Given the description of an element on the screen output the (x, y) to click on. 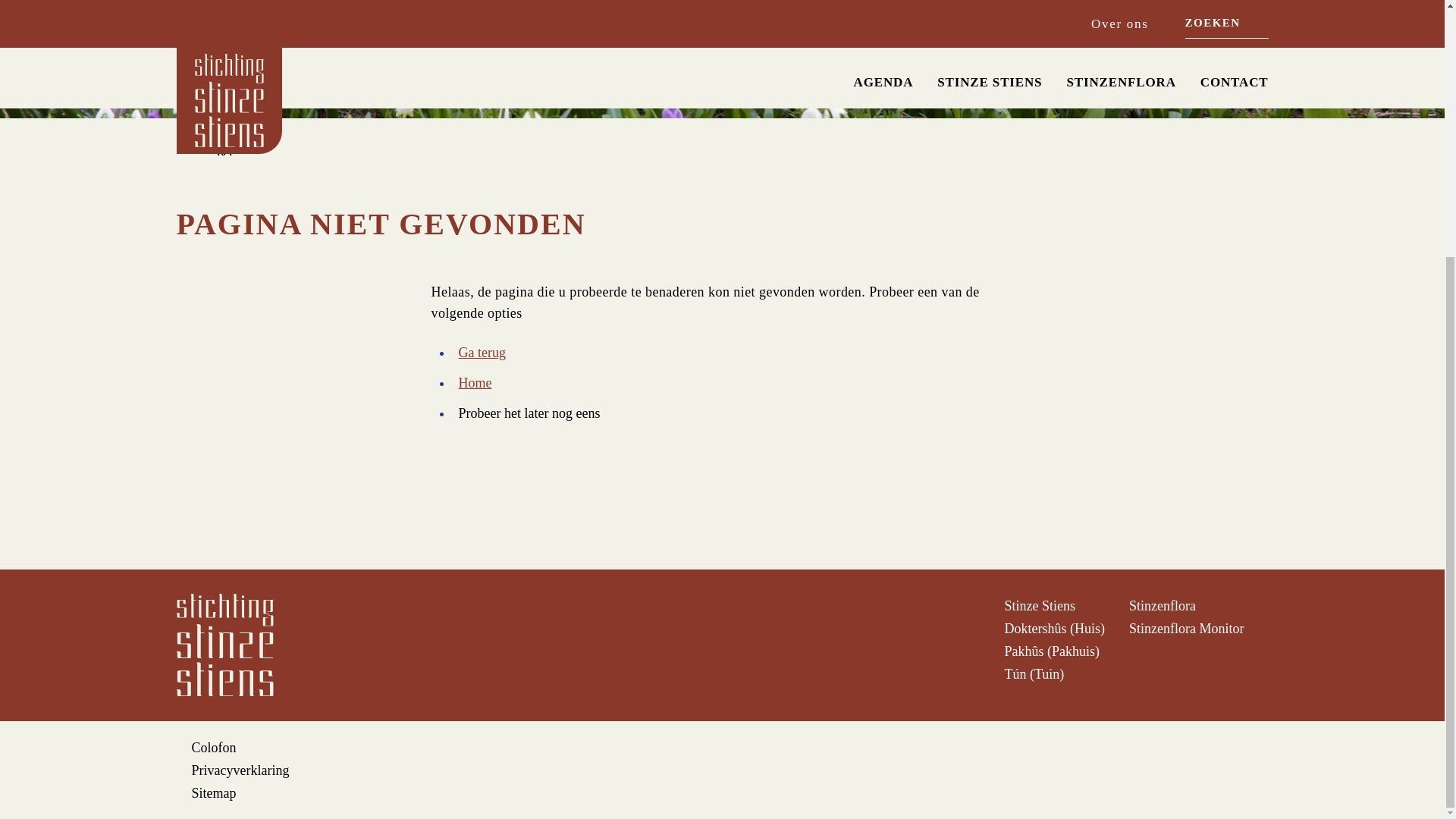
Ga terug (481, 352)
Stinzenflora Monitor (1186, 628)
Privacyverklaring (239, 770)
Colofon (212, 747)
Sitemap (212, 792)
Stinzenflora (1162, 605)
Stinze Stiens (1039, 605)
Home (475, 382)
